Given the description of an element on the screen output the (x, y) to click on. 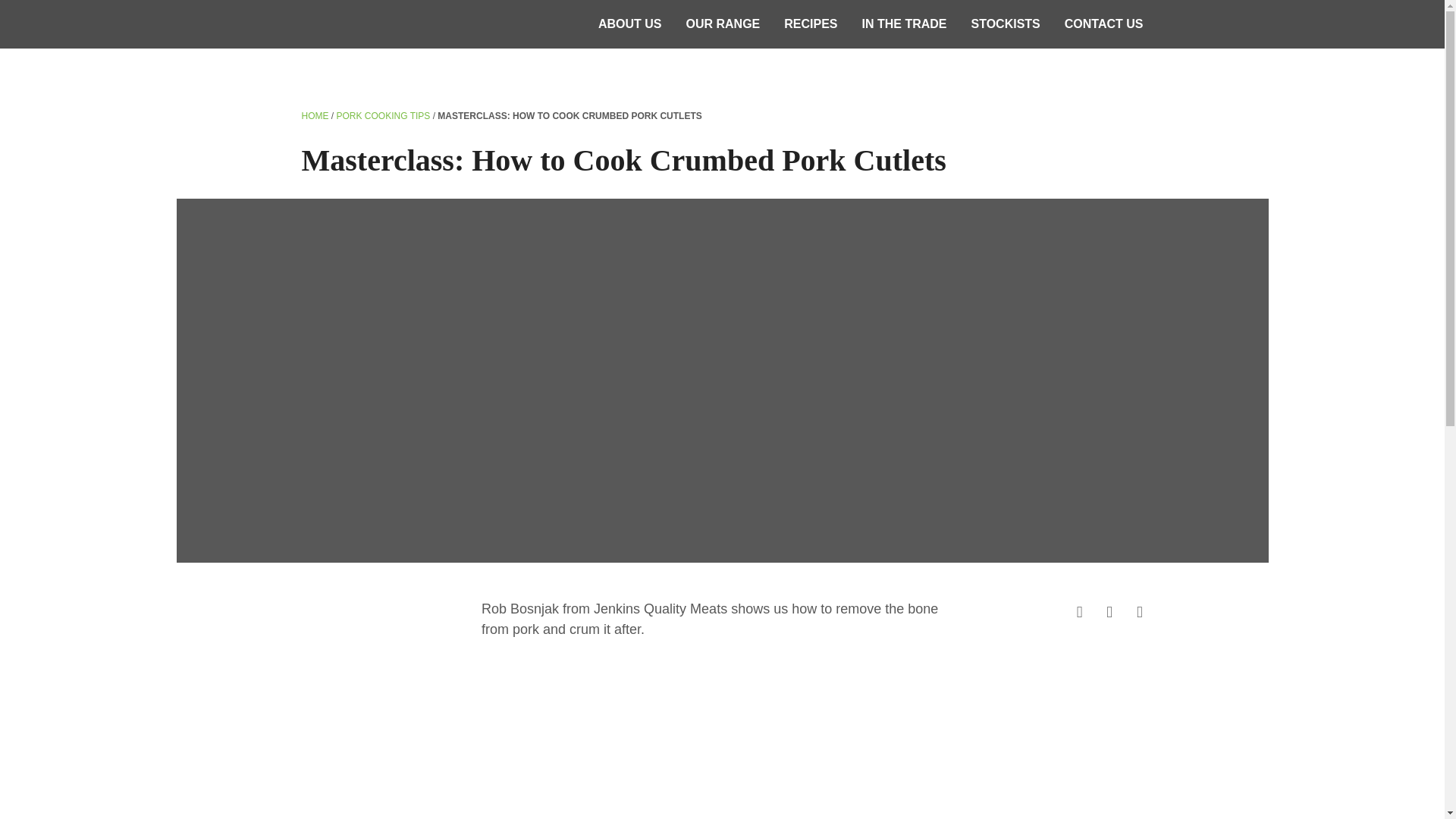
PORK COOKING TIPS Element type: text (383, 115)
ABOUT US Element type: text (630, 24)
Print this article Element type: text (1139, 611)
STOCKISTS Element type: text (1005, 24)
CONTACT US Element type: text (1103, 24)
OUR RANGE Element type: text (722, 24)
RECIPES Element type: text (810, 24)
IN THE TRADE Element type: text (904, 24)
HOME Element type: text (315, 115)
Skip to content Element type: text (1443, 0)
Share article via email Element type: text (1109, 611)
Share article to Facebook Element type: text (1079, 611)
